Given the description of an element on the screen output the (x, y) to click on. 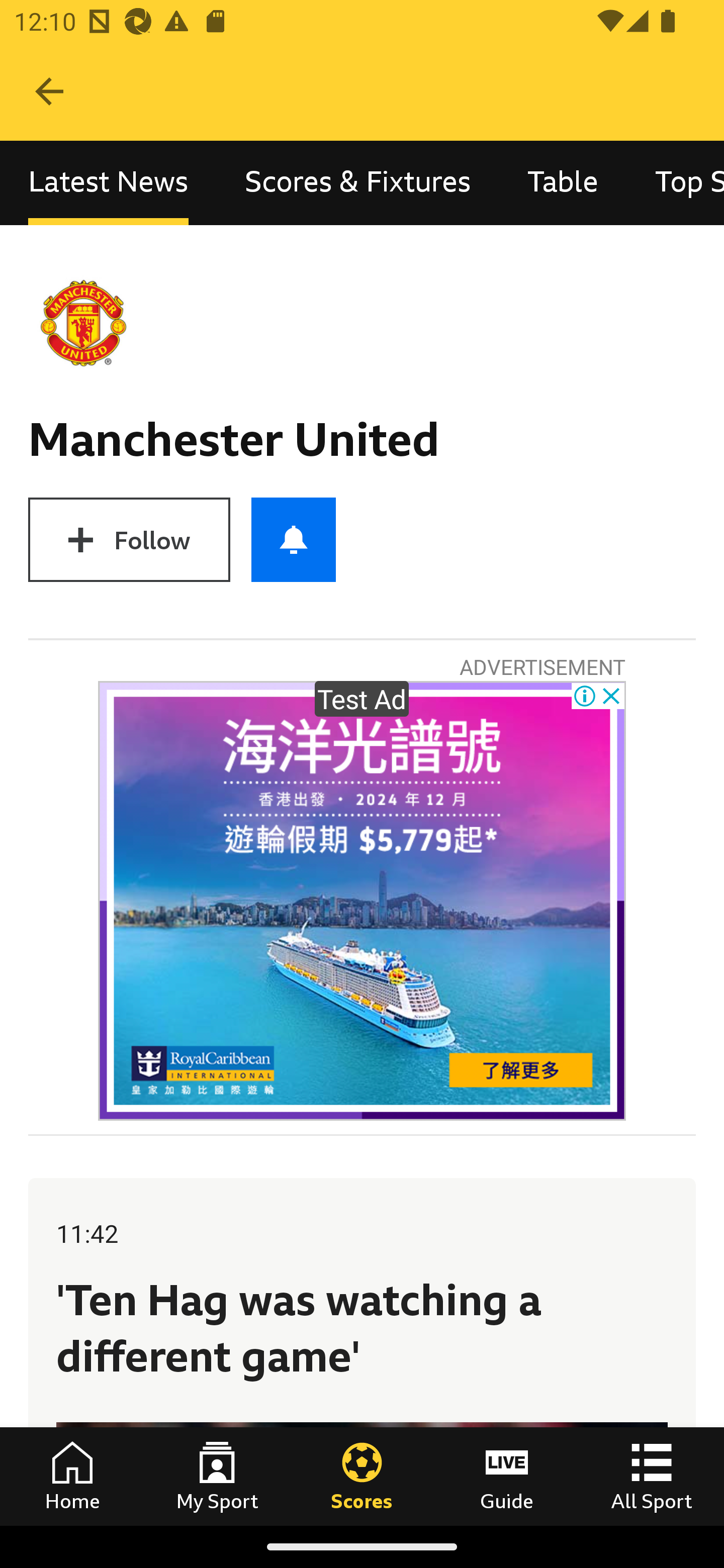
Navigate up (49, 91)
Latest News, selected Latest News (108, 183)
Scores & Fixtures (357, 183)
Table (562, 183)
Follow Manchester United Follow (129, 539)
Push notifications for Manchester United (293, 539)
Home (72, 1475)
My Sport (216, 1475)
Guide (506, 1475)
All Sport (651, 1475)
